Given the description of an element on the screen output the (x, y) to click on. 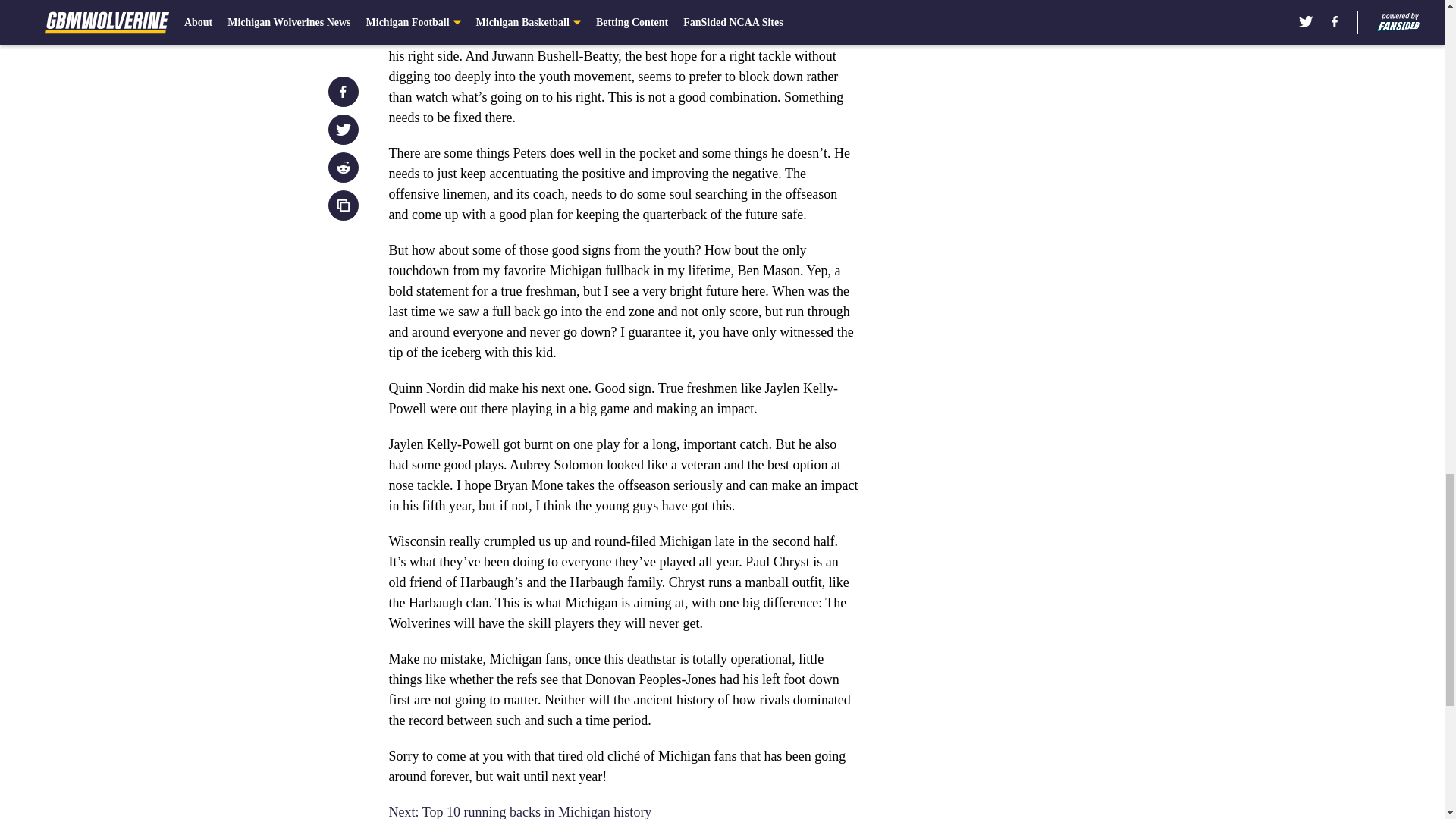
Next: Top 10 running backs in Michigan history (519, 811)
